Given the description of an element on the screen output the (x, y) to click on. 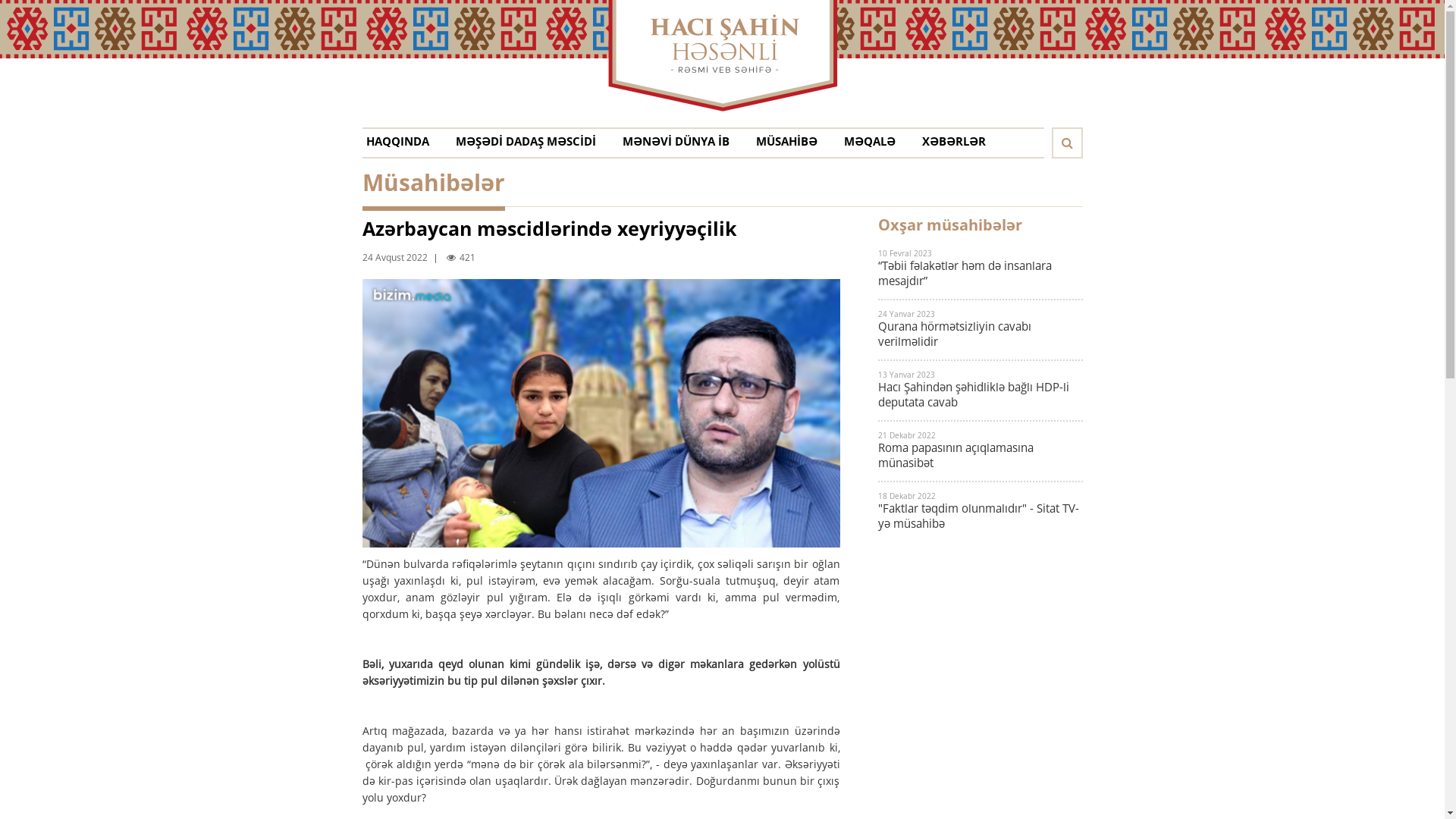
HAQQINDA Element type: text (396, 144)
